Given the description of an element on the screen output the (x, y) to click on. 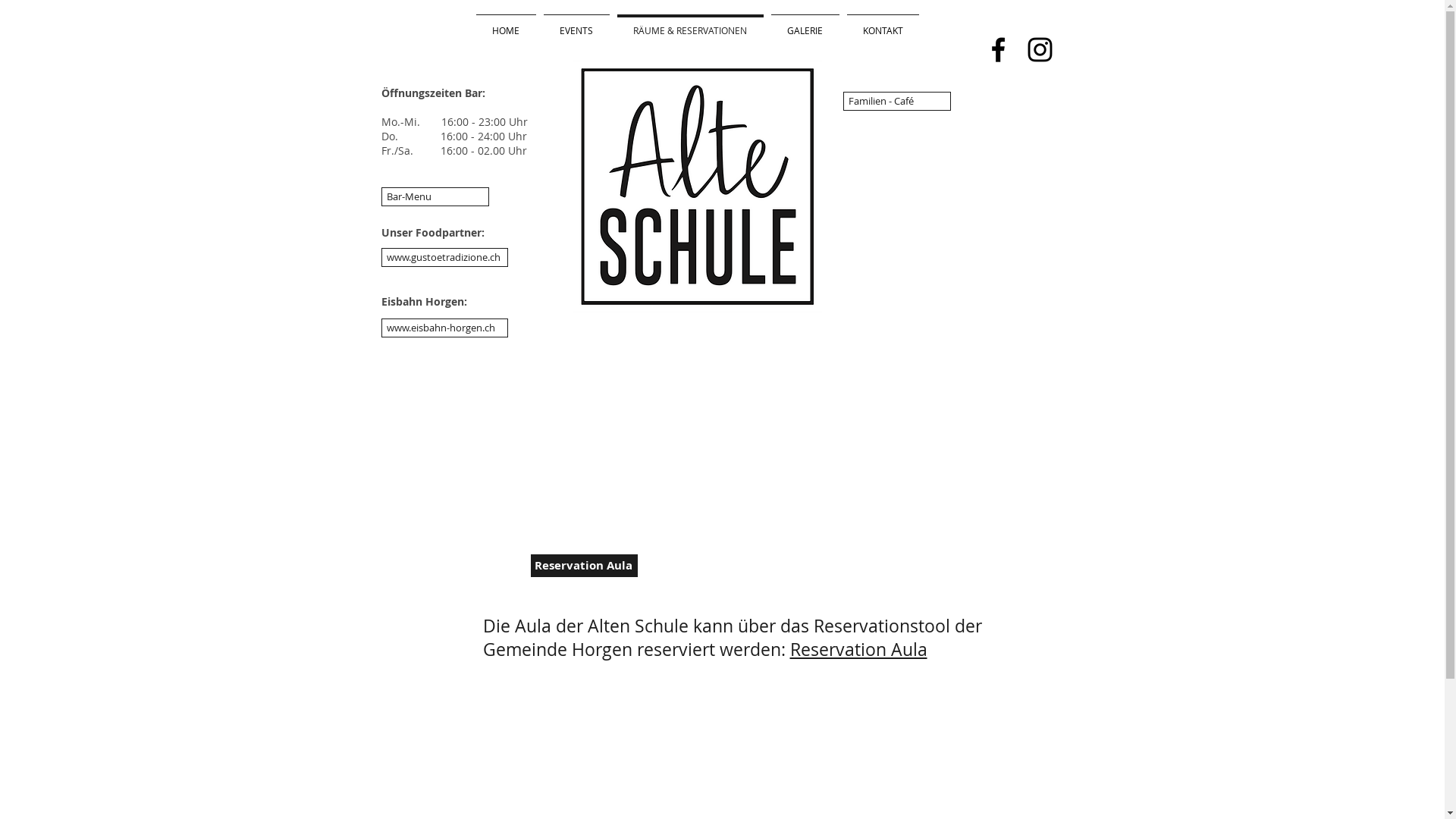
KONTAKT Element type: text (882, 23)
www.gustoetradizione.ch Element type: text (443, 256)
Bar-Menu Element type: text (434, 196)
GALERIE Element type: text (805, 23)
EVENTS Element type: text (576, 23)
HOME Element type: text (505, 23)
www.eisbahn-horgen.ch Element type: text (443, 327)
Reservation Aula Element type: text (858, 649)
